Given the description of an element on the screen output the (x, y) to click on. 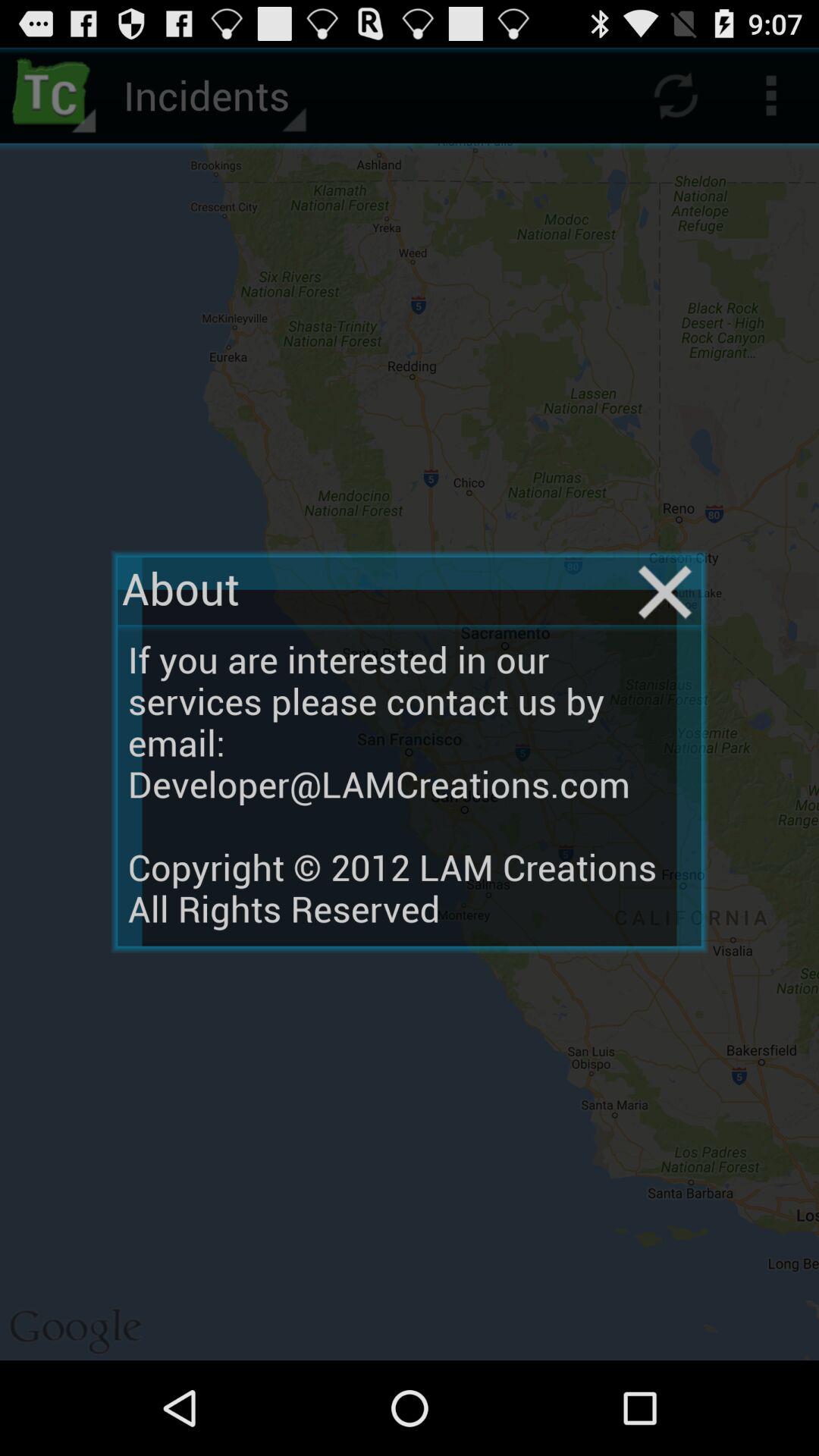
choose icon next to incidents icon (55, 95)
